Given the description of an element on the screen output the (x, y) to click on. 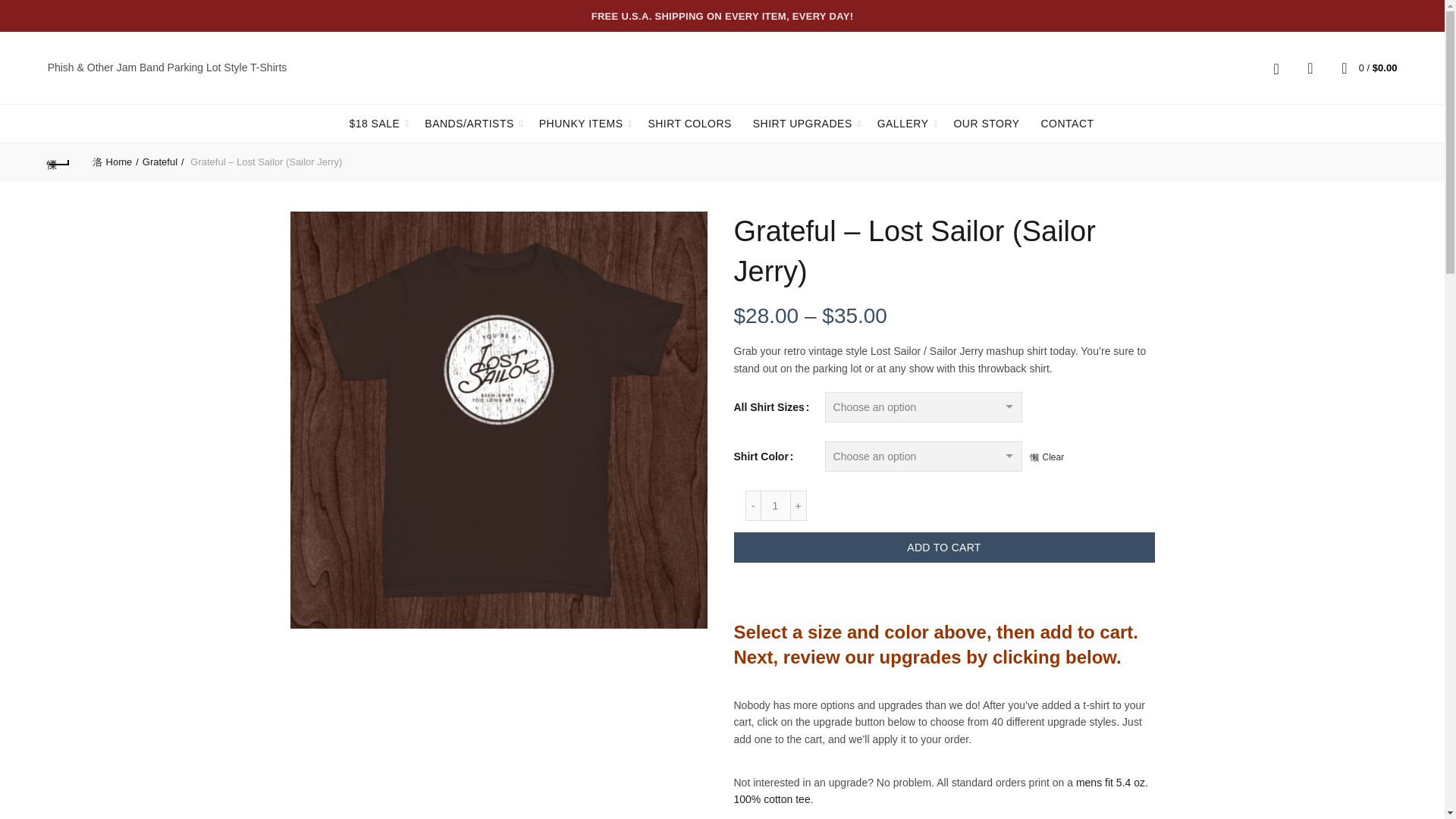
1 (775, 505)
